Given the description of an element on the screen output the (x, y) to click on. 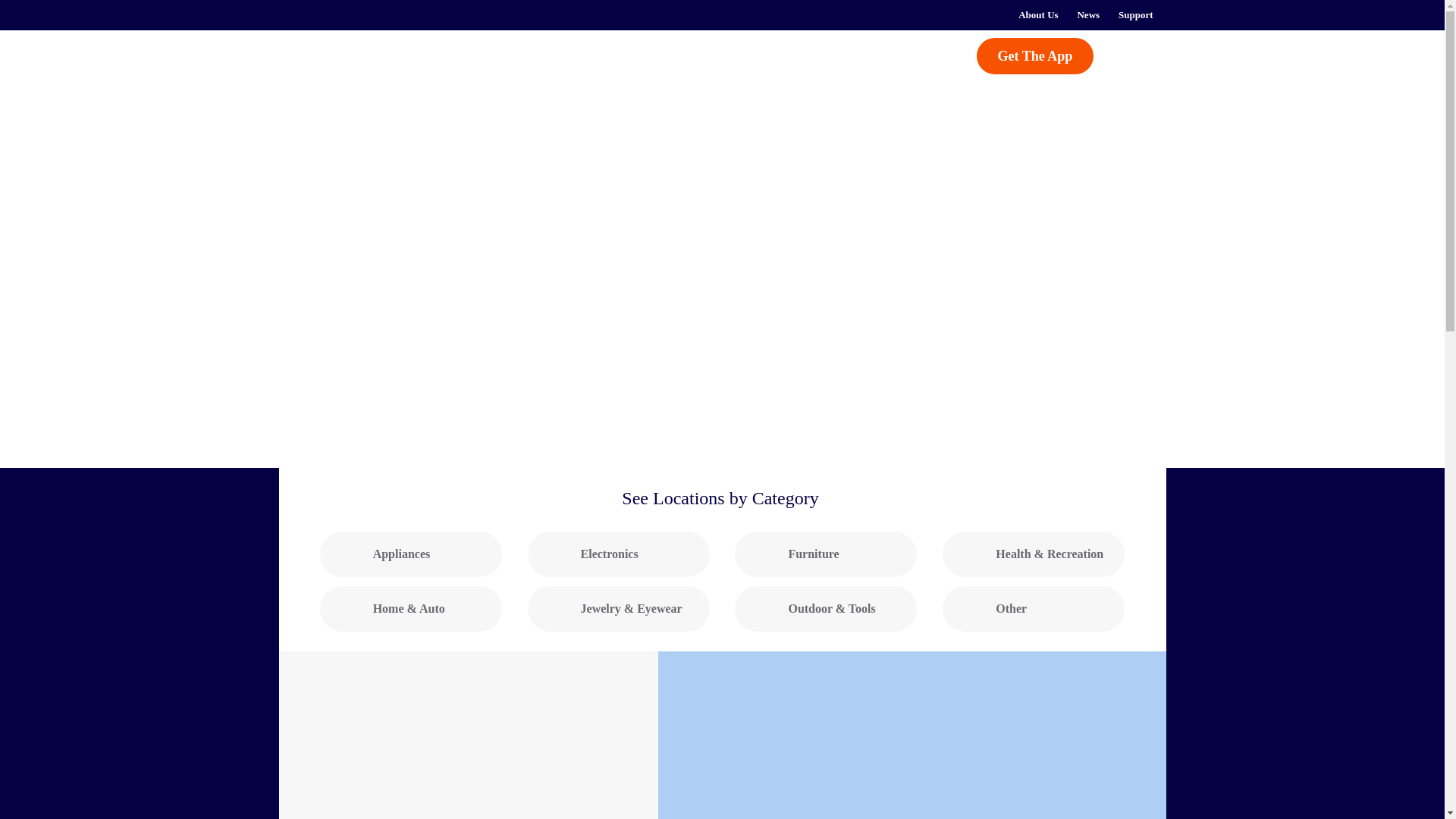
How It Works (516, 54)
Electronics (618, 554)
Ways to Shop (653, 54)
Furniture (826, 554)
Support (1136, 15)
Appliances (411, 554)
About Us (1037, 15)
Acima (358, 63)
For Partners (769, 54)
Get The App (1035, 55)
